Given the description of an element on the screen output the (x, y) to click on. 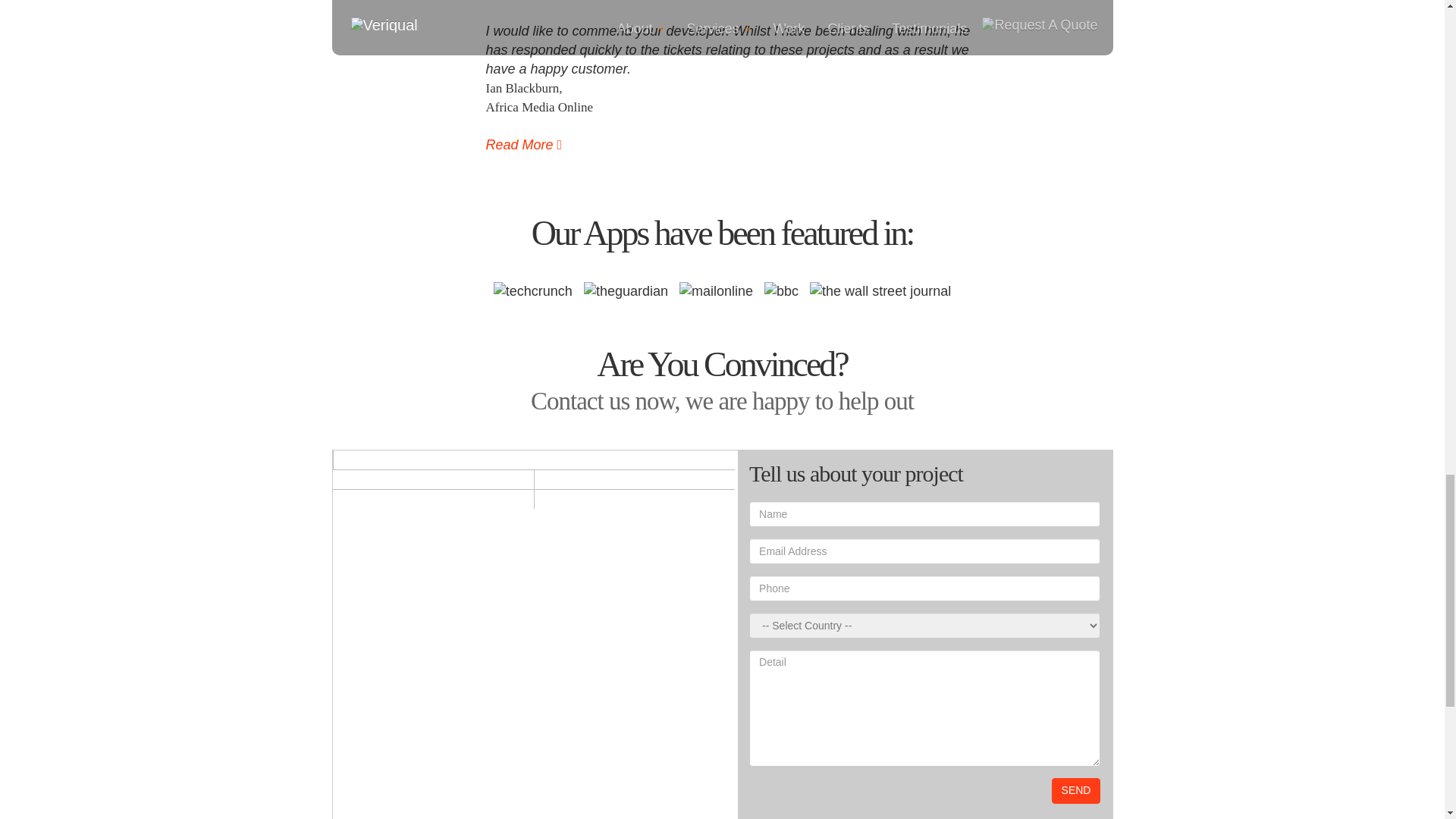
SEND (1075, 790)
Read More (523, 144)
SEND (1075, 790)
